Given the description of an element on the screen output the (x, y) to click on. 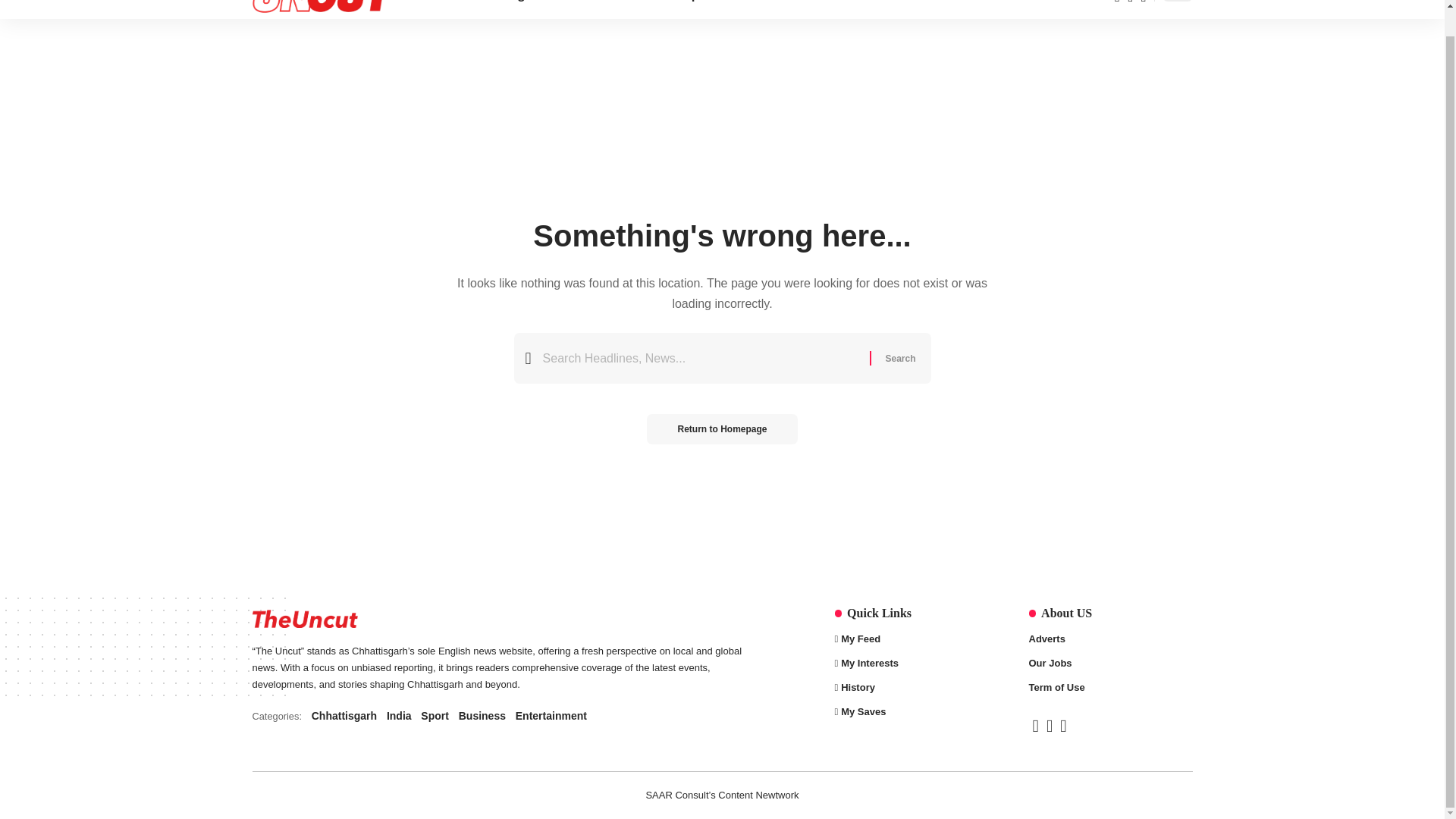
Health (759, 9)
The Uncut (320, 9)
Search (899, 358)
Business (636, 9)
Return to Homepage (721, 429)
Home (432, 9)
Chhattisgarh (505, 9)
Sports (703, 9)
India (576, 9)
Search (498, 715)
Entertainment (899, 358)
